Given the description of an element on the screen output the (x, y) to click on. 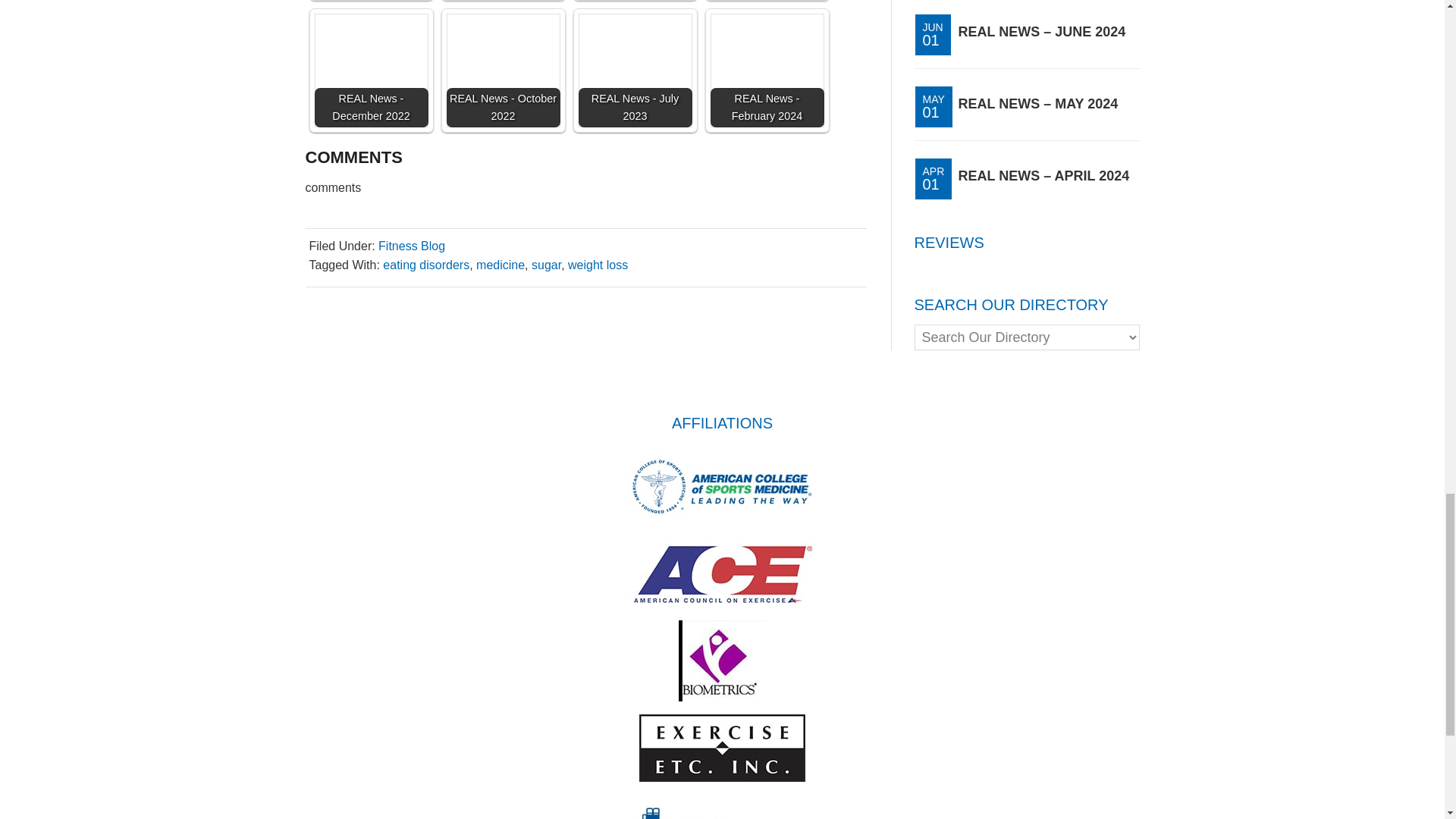
REAL News - July 2023 (634, 70)
REAL News - October 2022 (502, 70)
REAL News - December 2022 (371, 70)
REAL News - October 2022 (502, 70)
REAL News - February 2024 (767, 70)
REAL News - December 2022 (371, 70)
